Given the description of an element on the screen output the (x, y) to click on. 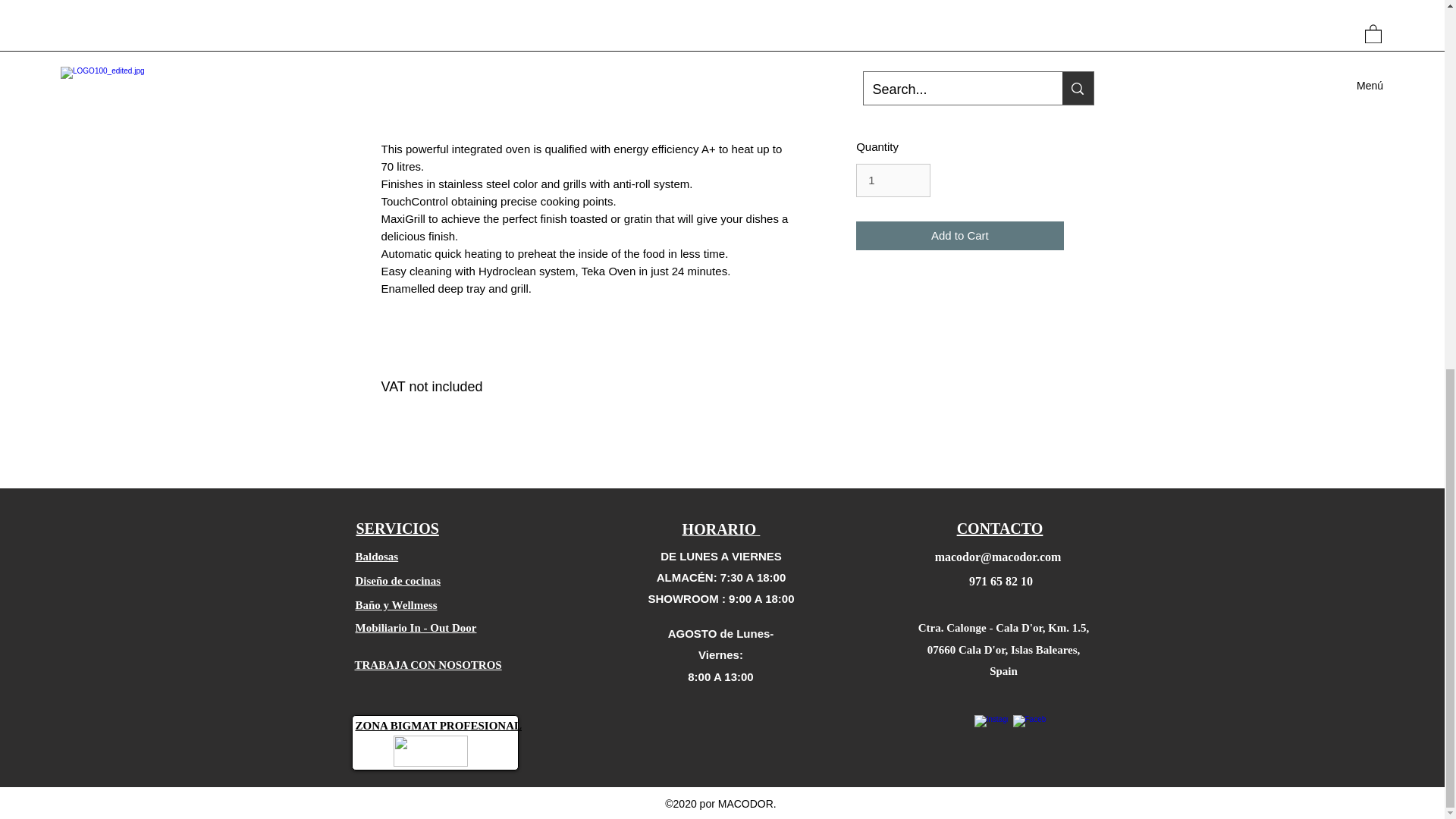
Add to Cart (959, 235)
SERVICIOS (397, 528)
1 (893, 180)
ZONA BIGMAT PROFESIONAL (438, 725)
TRABAJA CON NOSOTROS (428, 664)
AGOSTO de Lunes-Viernes: (721, 643)
Mobiliario In - Out Door (415, 626)
DE LUNES A VIERNES (721, 555)
971 65 82 10 (1000, 581)
Baldosas (376, 555)
CONTACTO (999, 528)
Ctra. Calonge - Cala D'or, Km. 1.5, (1003, 627)
